Given the description of an element on the screen output the (x, y) to click on. 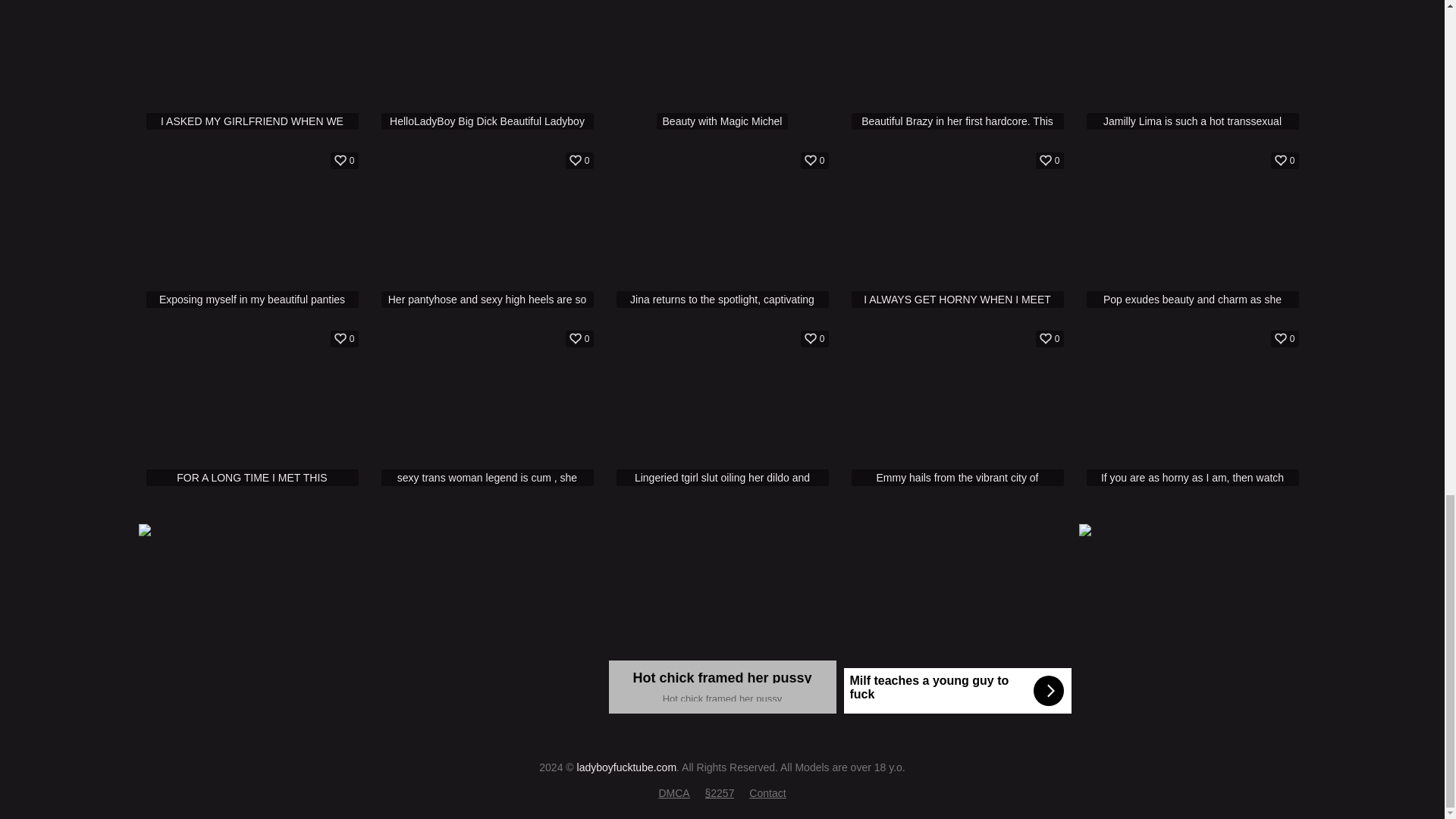
Milf teaches a young guy to fuck (956, 618)
DMCA (721, 68)
